Given the description of an element on the screen output the (x, y) to click on. 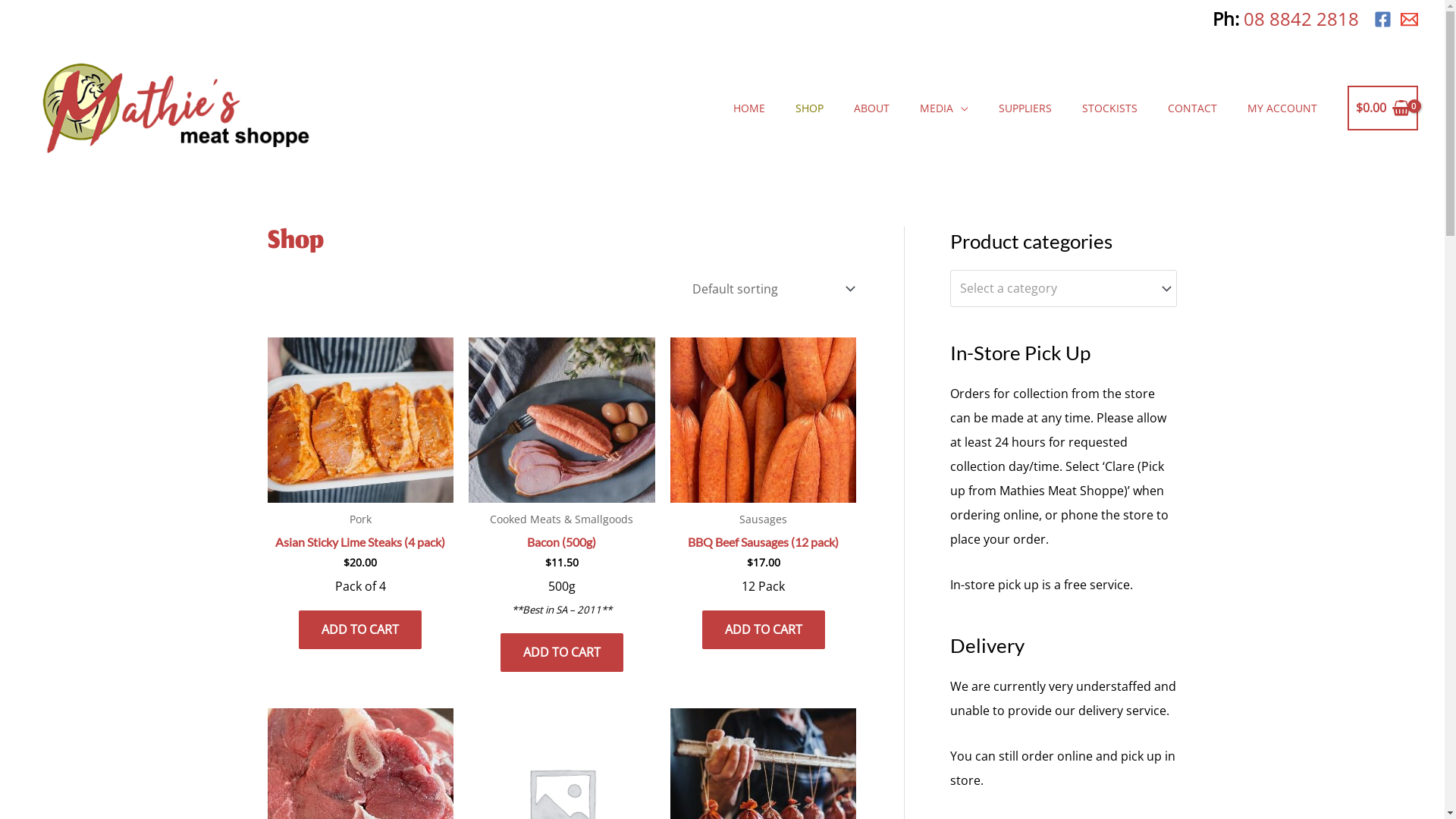
BBQ Beef Sausages (12 pack) Element type: text (762, 545)
SUPPLIERS Element type: text (1024, 107)
HOME Element type: text (749, 107)
ADD TO CART Element type: text (561, 652)
SHOP Element type: text (809, 107)
MEDIA Element type: text (943, 107)
Asian Sticky Lime Steaks (4 pack) Element type: text (360, 545)
Bacon (500g) Element type: text (561, 545)
08 8842 2818 Element type: text (1300, 18)
MY ACCOUNT Element type: text (1282, 107)
$0.00 Element type: text (1382, 108)
ADD TO CART Element type: text (359, 629)
STOCKISTS Element type: text (1109, 107)
ABOUT Element type: text (871, 107)
CONTACT Element type: text (1192, 107)
ADD TO CART Element type: text (763, 629)
